Given the description of an element on the screen output the (x, y) to click on. 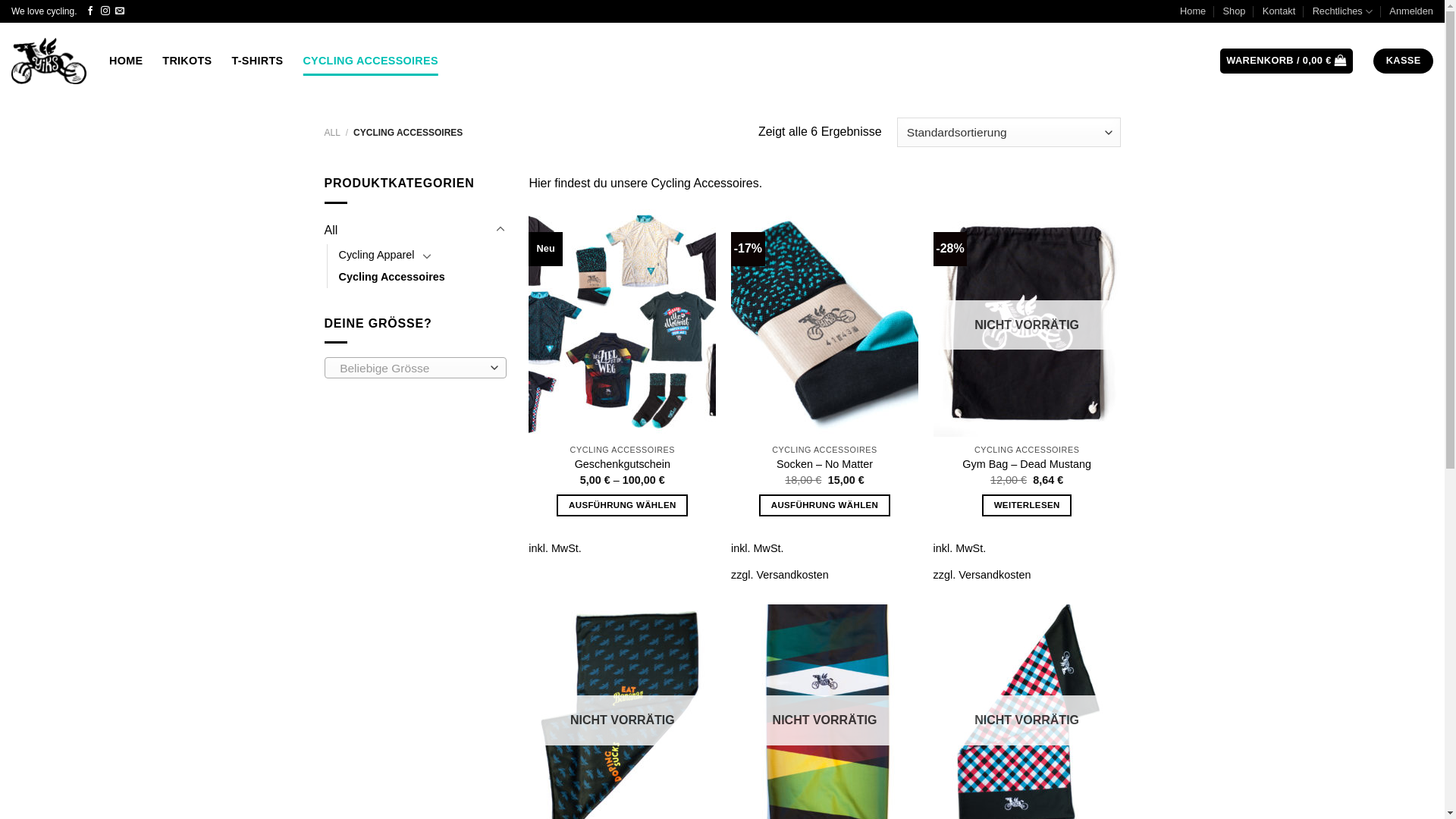
Shop Element type: text (1234, 11)
Geschenkgutschein Element type: text (622, 464)
Yiks.cc - Cycling Apparel Element type: hover (48, 60)
ALL Element type: text (332, 132)
Versandkosten Element type: text (792, 574)
WEITERLESEN Element type: text (1027, 505)
Rechtliches Element type: text (1342, 11)
KASSE Element type: text (1403, 60)
Auf Facebook folgen Element type: hover (89, 11)
Kontakt Element type: text (1278, 11)
Auf Instagram folgen Element type: hover (104, 11)
Sende uns eine E-Mail Element type: hover (119, 11)
T-SHIRTS Element type: text (257, 60)
Anmelden Element type: text (1411, 11)
HOME Element type: text (125, 60)
Versandkosten Element type: text (994, 574)
Cycling Accessoires Element type: text (391, 277)
Home Element type: text (1192, 11)
All Element type: text (407, 230)
Cycling Apparel Element type: text (376, 255)
CYCLING ACCESSOIRES Element type: text (369, 60)
TRIKOTS Element type: text (186, 60)
